Given the description of an element on the screen output the (x, y) to click on. 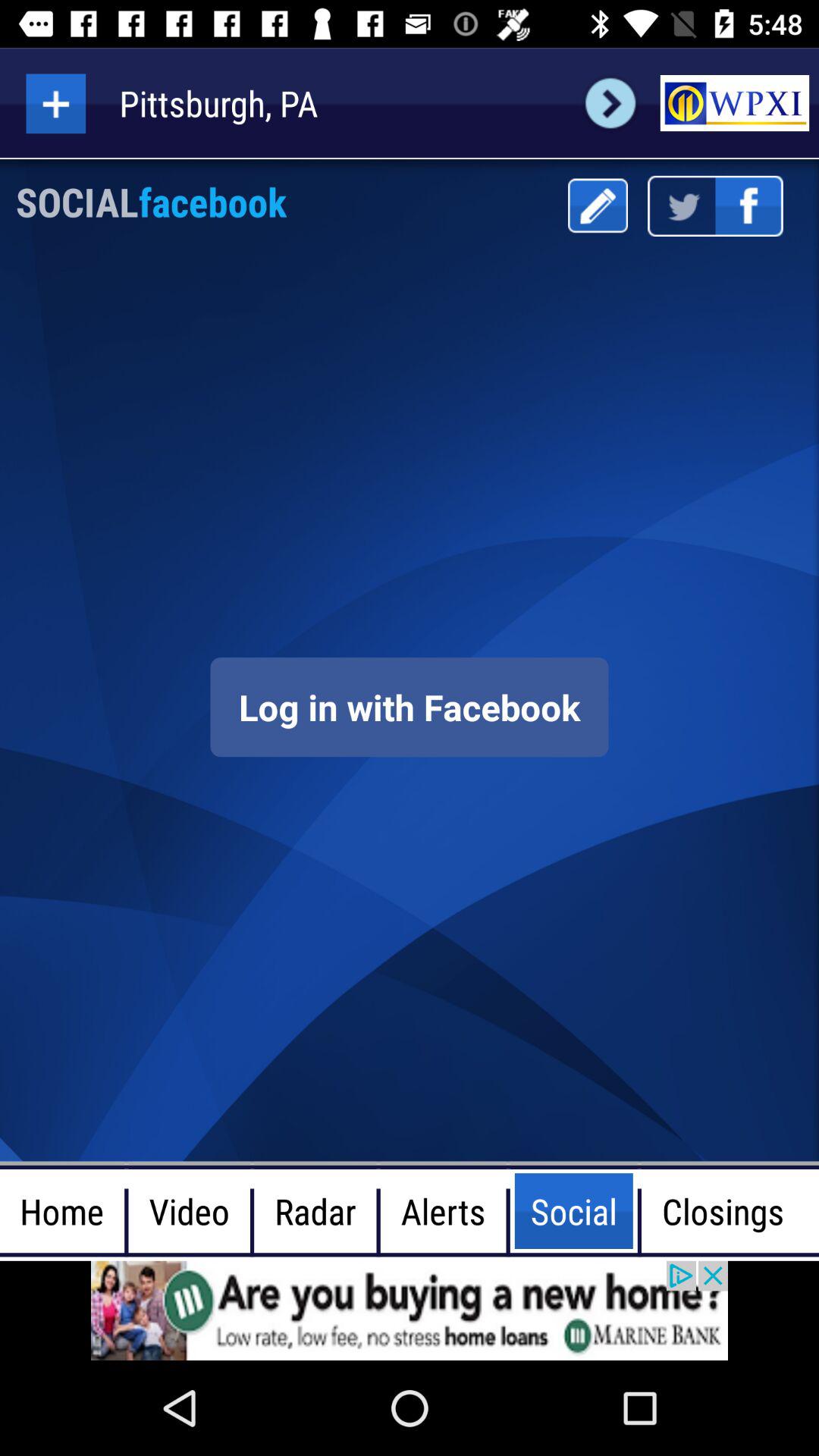
log in screen (409, 707)
